Given the description of an element on the screen output the (x, y) to click on. 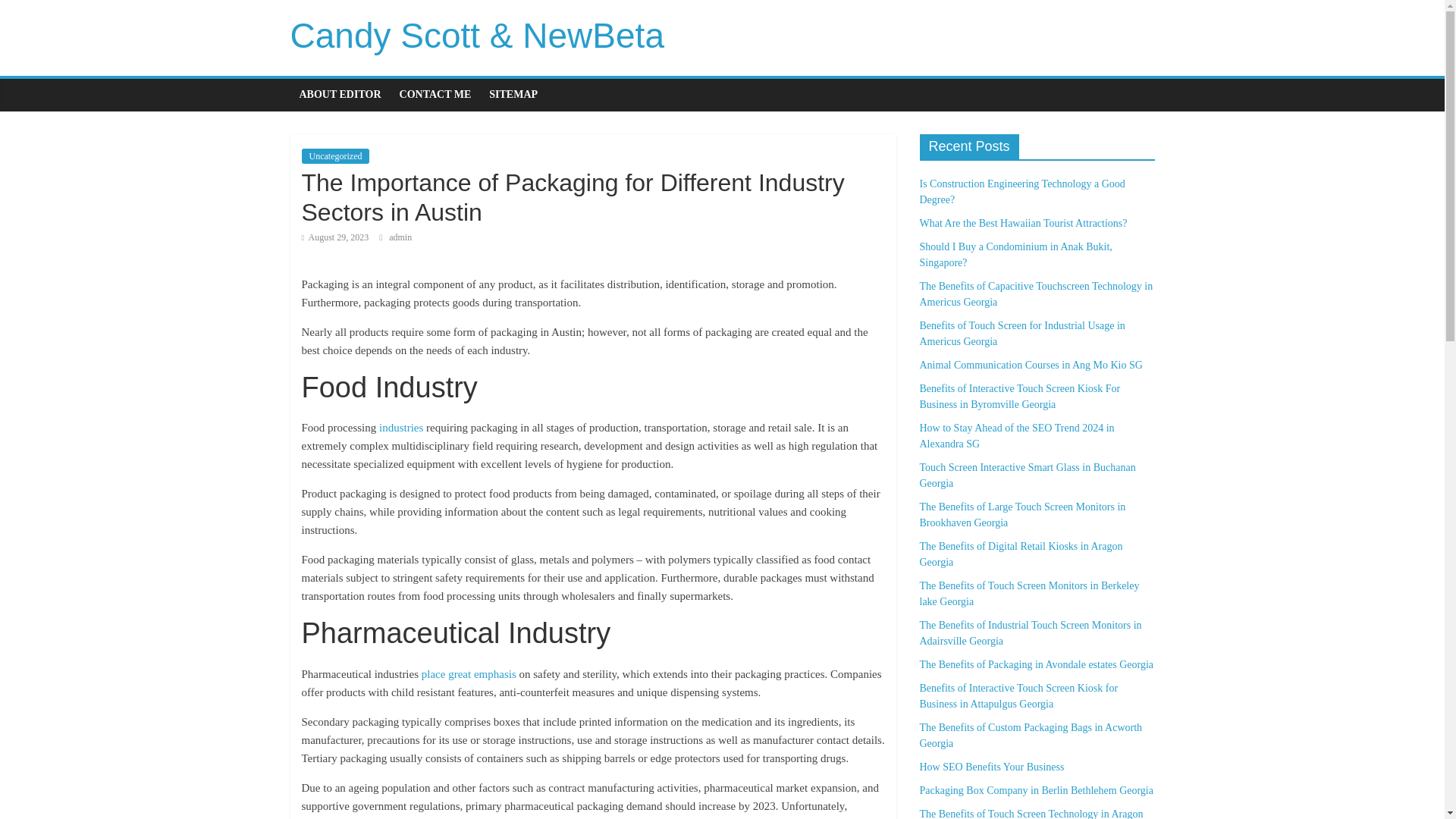
What Are the Best Hawaiian Tourist Attractions? (1022, 223)
Is Construction Engineering Technology a Good Degree? (1021, 191)
ABOUT EDITOR (339, 94)
The Benefits of Digital Retail Kiosks in Aragon Georgia (1020, 554)
How SEO Benefits Your Business (991, 767)
How to Stay Ahead of the SEO Trend 2024 in Alexandra SG (1015, 435)
admin (400, 236)
